Given the description of an element on the screen output the (x, y) to click on. 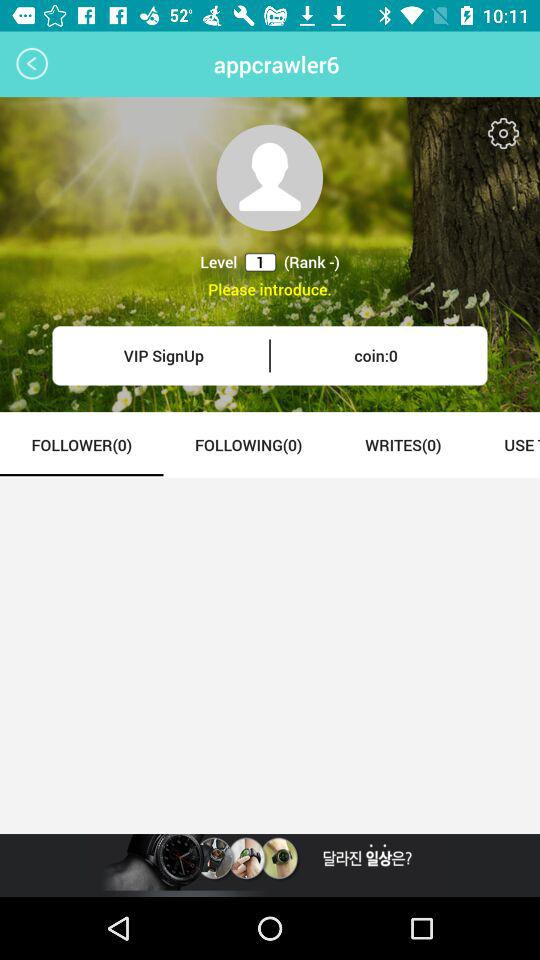
turn off use theme(0) app (506, 444)
